Given the description of an element on the screen output the (x, y) to click on. 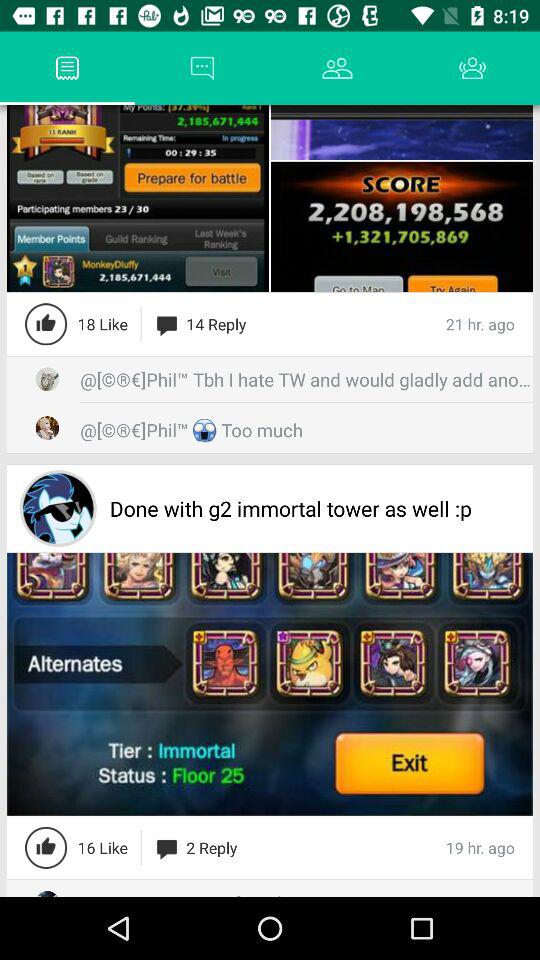
like post (46, 847)
